Given the description of an element on the screen output the (x, y) to click on. 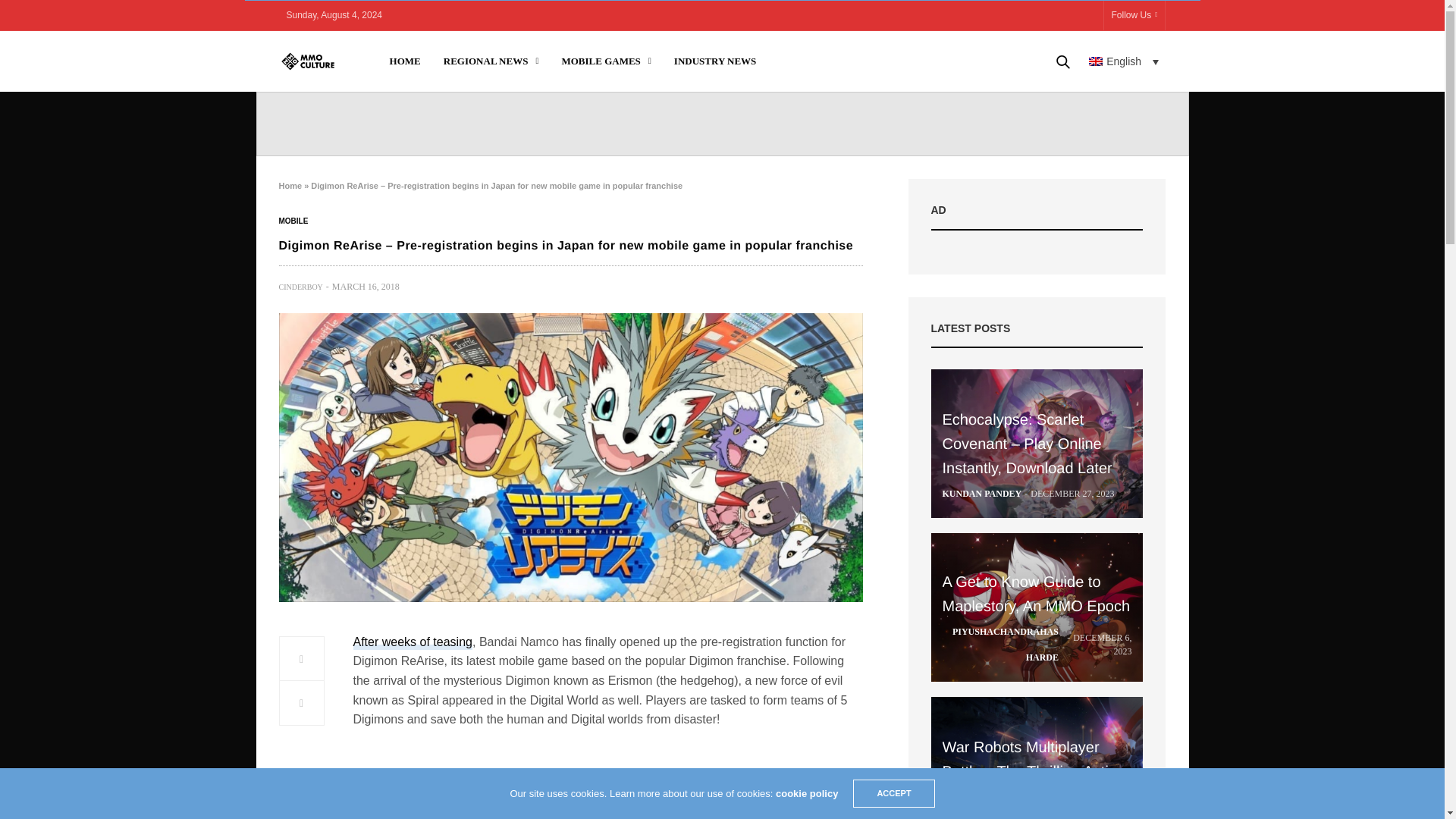
Sunday, August 4, 2024 (334, 15)
A Get to Know Guide to Maplestory, An MMO Epoch (1036, 607)
English (1123, 61)
Posts by kundan pandey (982, 493)
Posts by Piyushachandrahas Harde (1000, 644)
HOME (405, 61)
Follow Us (1134, 15)
Search (1041, 112)
Home (290, 185)
INDUSTRY NEWS (715, 61)
MOBILE GAMES (605, 61)
Posts by cinderboy (301, 287)
Mobile (293, 221)
REGIONAL NEWS (491, 61)
